Given the description of an element on the screen output the (x, y) to click on. 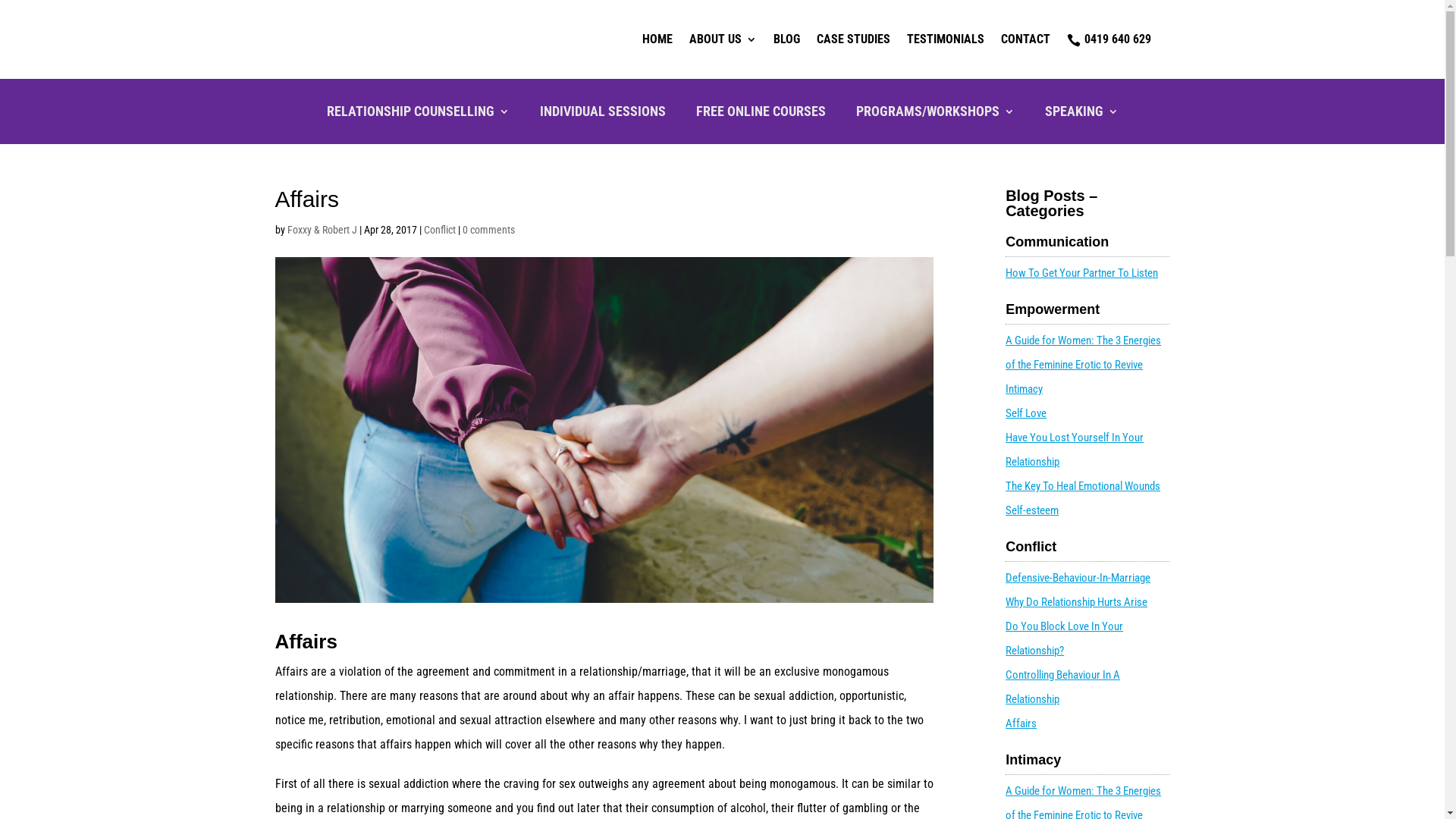
BLOG Element type: text (786, 39)
Defensive-Behaviour-In-Marriage Element type: text (1077, 577)
Affairs Element type: text (1020, 723)
HOME Element type: text (656, 39)
How To Get Your Partner To Listen Element type: text (1081, 272)
Foxxy & Robert J Element type: text (321, 229)
SPEAKING Element type: text (1081, 114)
Do You Block Love In Your Relationship? Element type: text (1064, 638)
RELATIONSHIP COUNSELLING Element type: text (417, 114)
Controlling Behaviour In A Relationship Element type: text (1062, 687)
Self-esteem Element type: text (1031, 510)
CONTACT Element type: text (1025, 39)
INDIVIDUAL SESSIONS Element type: text (602, 114)
Conflict Element type: text (439, 229)
ABOUT US Element type: text (722, 39)
FREE ONLINE COURSES Element type: text (760, 114)
0 comments Element type: text (488, 229)
Self Love Element type: text (1025, 413)
CASE STUDIES Element type: text (852, 39)
Why Do Relationship Hurts Arise Element type: text (1076, 601)
TESTIMONIALS Element type: text (945, 39)
PROGRAMS/WORKSHOPS Element type: text (934, 114)
Have You Lost Yourself In Your Relationship Element type: text (1074, 449)
The Key To Heal Emotional Wounds Element type: text (1082, 485)
